Given the description of an element on the screen output the (x, y) to click on. 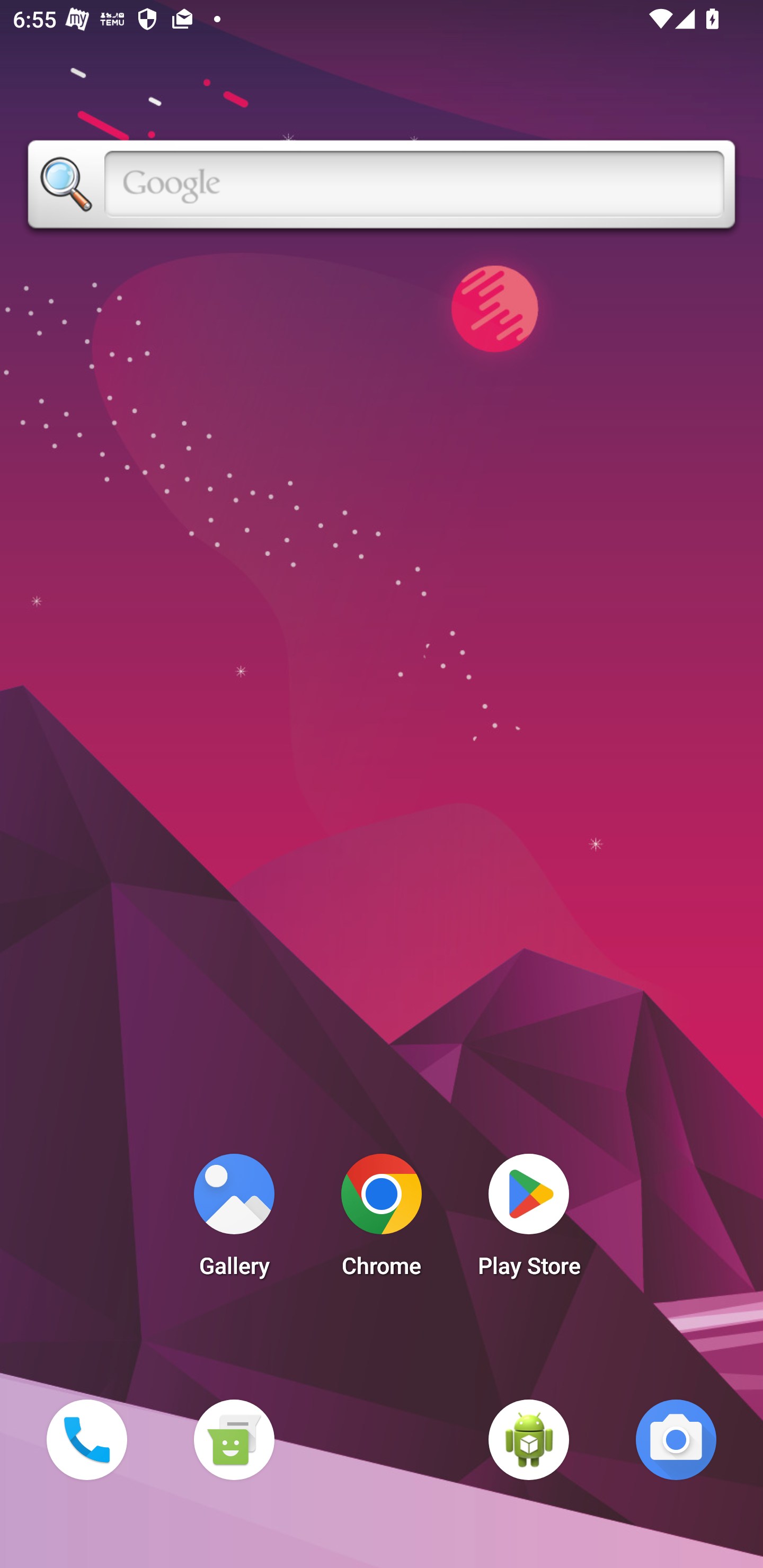
Gallery (233, 1220)
Chrome (381, 1220)
Play Store (528, 1220)
Phone (86, 1439)
Messaging (233, 1439)
WebView Browser Tester (528, 1439)
Camera (676, 1439)
